Given the description of an element on the screen output the (x, y) to click on. 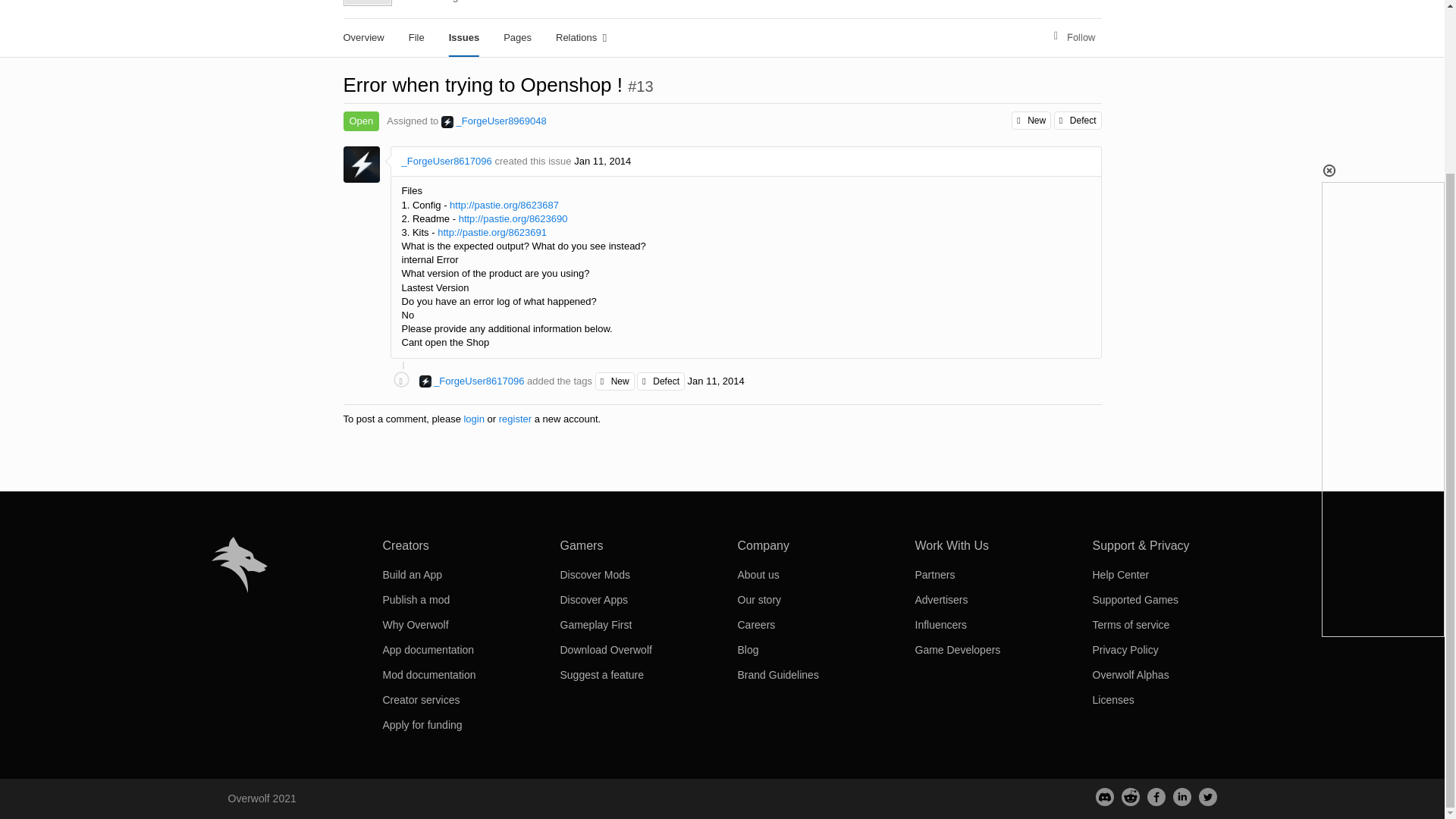
register (515, 419)
Overview (363, 37)
Bukkit Plugins (437, 1)
Facebook (1155, 796)
Publish a mod (415, 599)
Apply for funding (421, 725)
Reddit (1129, 796)
Discord (1103, 796)
Build an App (411, 574)
LinkedIn (1181, 796)
File (416, 37)
Relations (580, 37)
Mod documentation (428, 674)
Why Overwolf (414, 624)
Issues (464, 37)
